Given the description of an element on the screen output the (x, y) to click on. 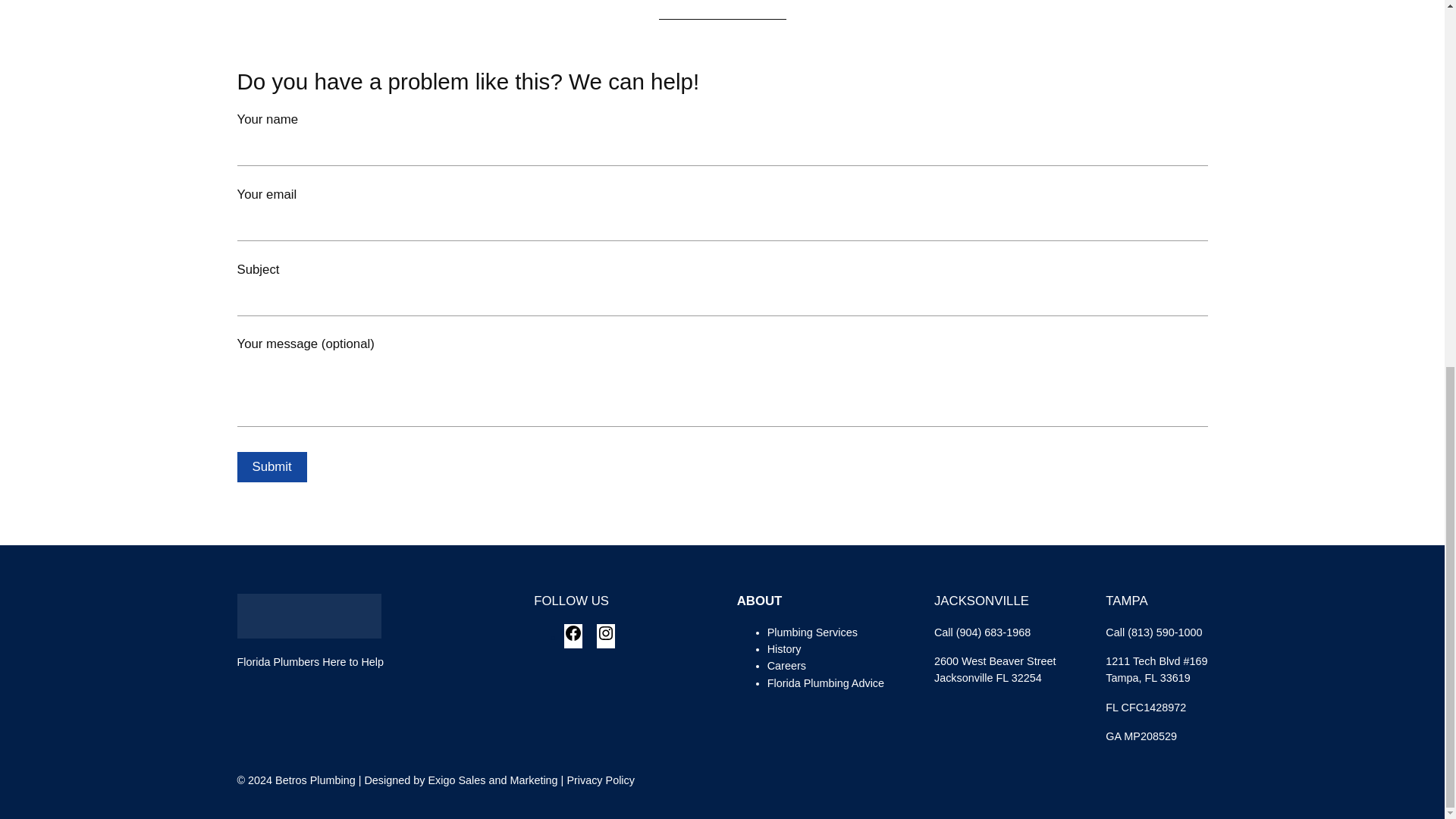
Careers (786, 665)
Privacy Policy (600, 779)
TAMPA (1126, 600)
Facebook (573, 637)
JACKSONVILLE (981, 600)
Instagram (605, 637)
Florida Plumbing Advice (825, 683)
Submit (270, 467)
Submit (270, 467)
History (784, 648)
